Given the description of an element on the screen output the (x, y) to click on. 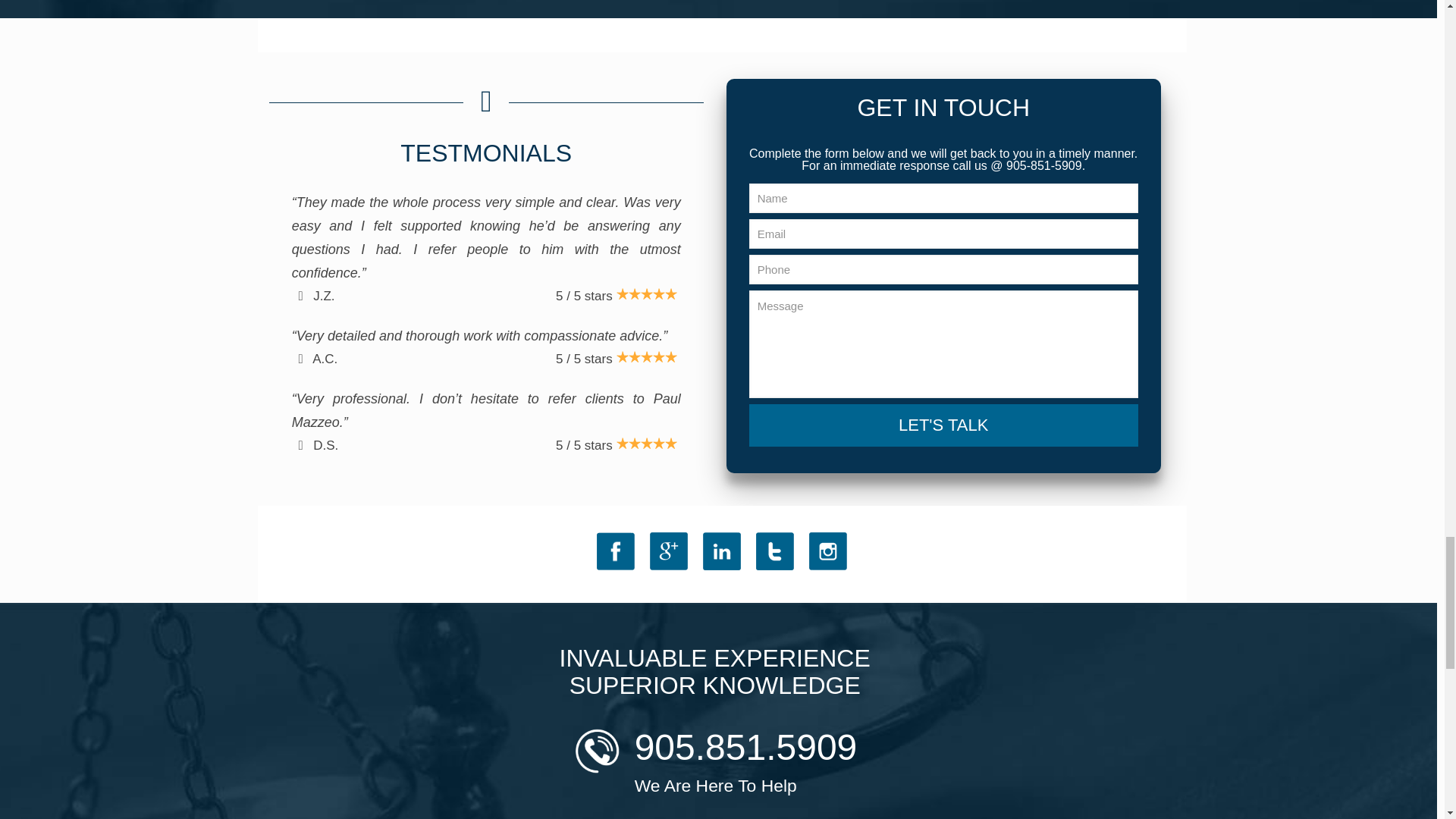
Facebook - Family Lawyer (615, 551)
Twitter - Family Lawyer (774, 551)
Linkedin - Family Lawyer (722, 551)
LET'S TALK (943, 425)
Instagram - Family Lawyer (828, 551)
